Given the description of an element on the screen output the (x, y) to click on. 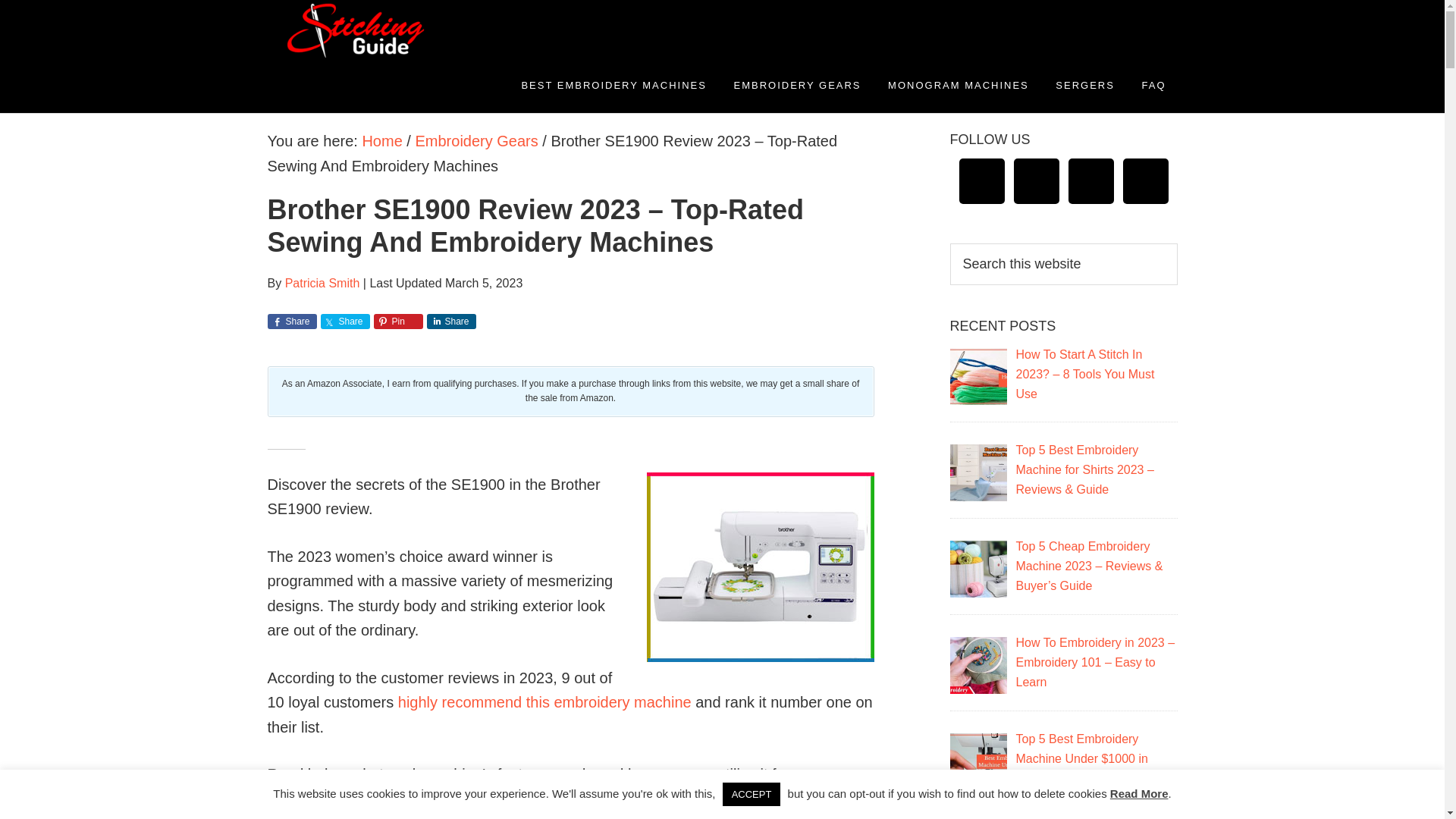
Share (290, 321)
MONOGRAM MACHINES (958, 85)
Patricia Smith (322, 282)
Share (344, 321)
Pin (397, 321)
BEST EMBROIDERY MACHINES (613, 85)
highly recommend this embroidery machine (544, 701)
Share (451, 321)
Home (381, 140)
Stitching Guide (403, 28)
SERGERS (1084, 85)
Embroidery Gears (475, 140)
